Given the description of an element on the screen output the (x, y) to click on. 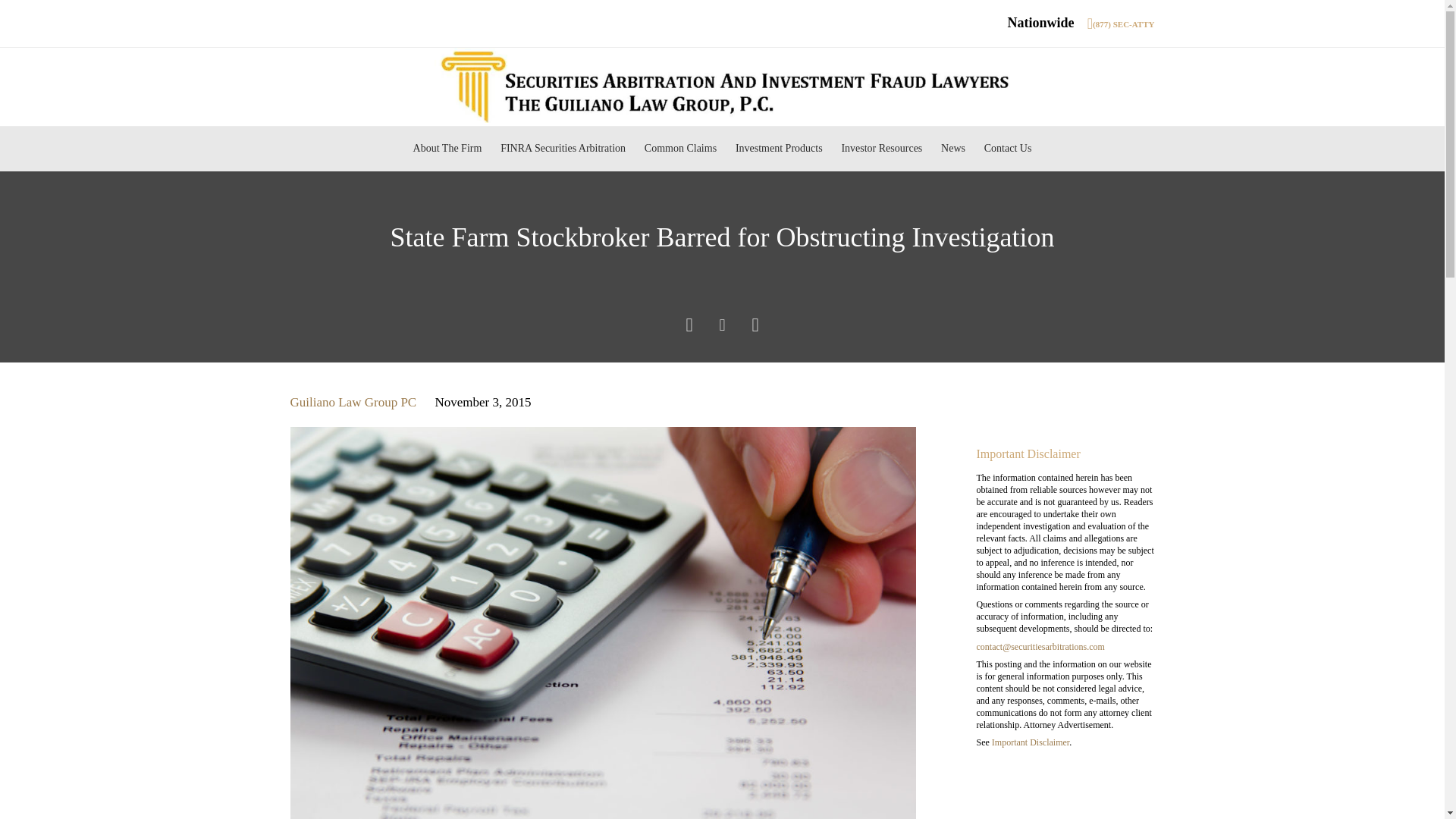
Posts by Guiliano Law Group PC (352, 401)
About The Firm (446, 148)
Common Claims (679, 148)
FINRA Securities Arbitration (563, 148)
